Given the description of an element on the screen output the (x, y) to click on. 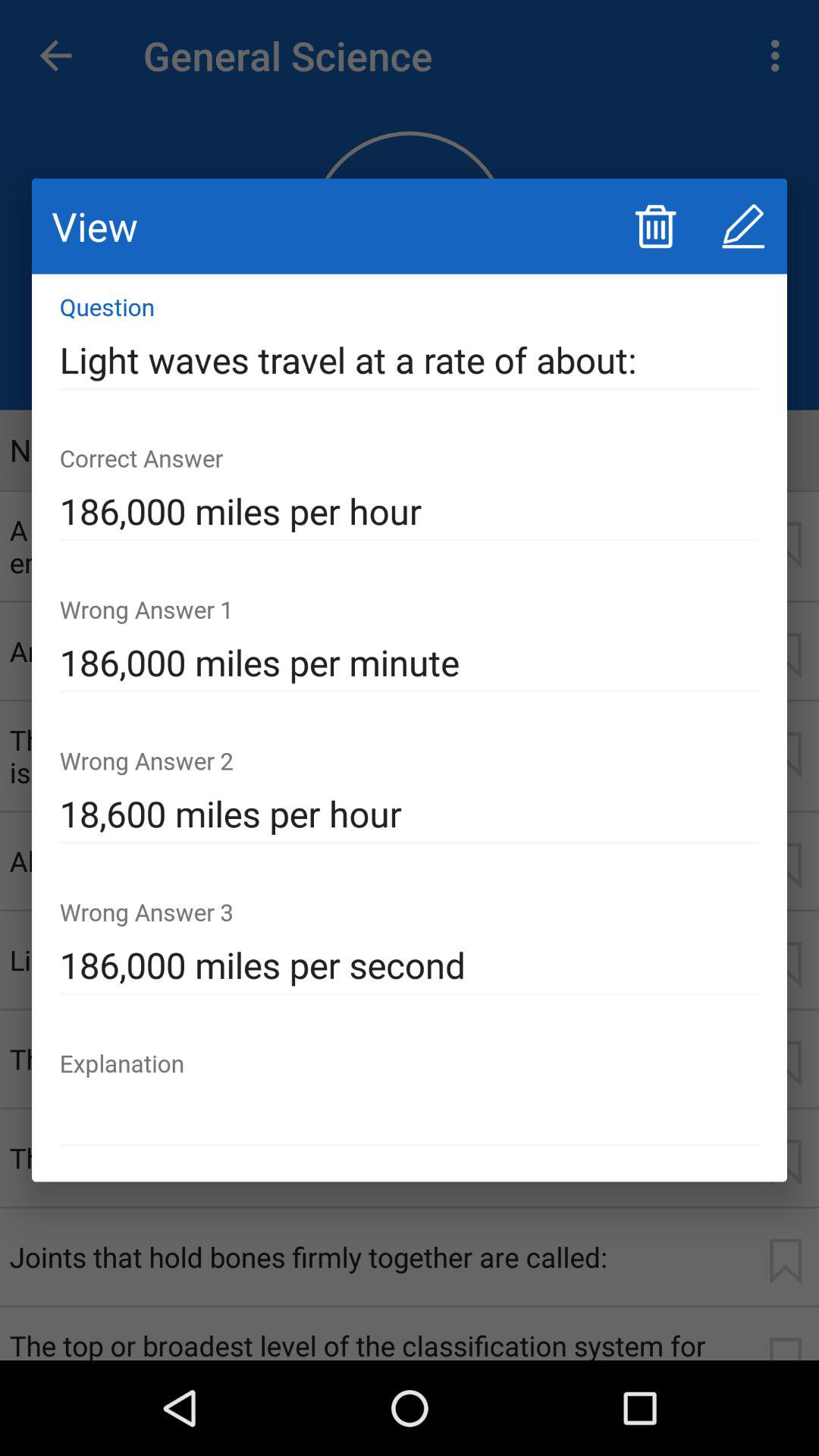
select the 18 600 miles (409, 814)
